Given the description of an element on the screen output the (x, y) to click on. 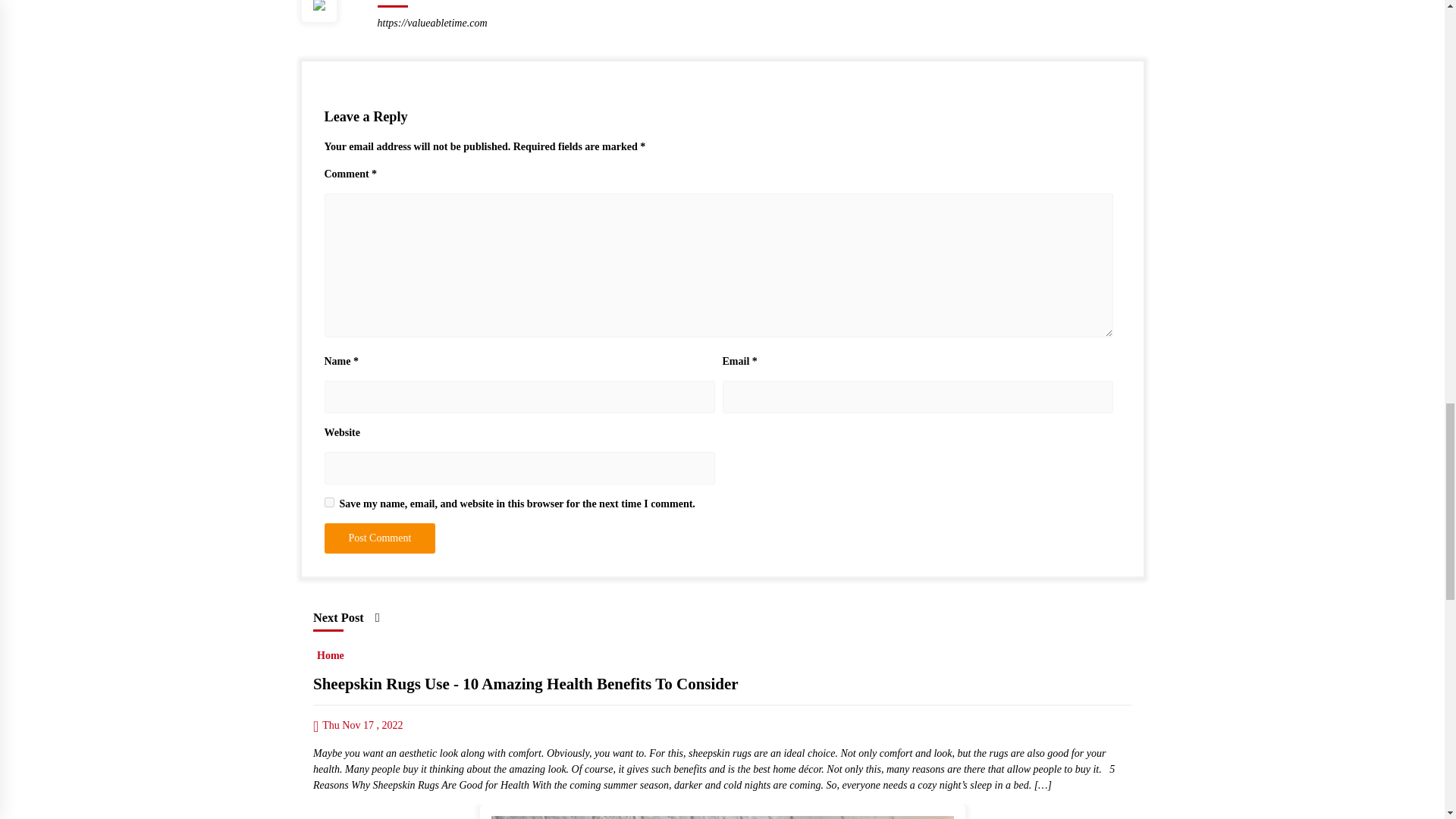
Post Comment (379, 538)
yes (329, 501)
